Given the description of an element on the screen output the (x, y) to click on. 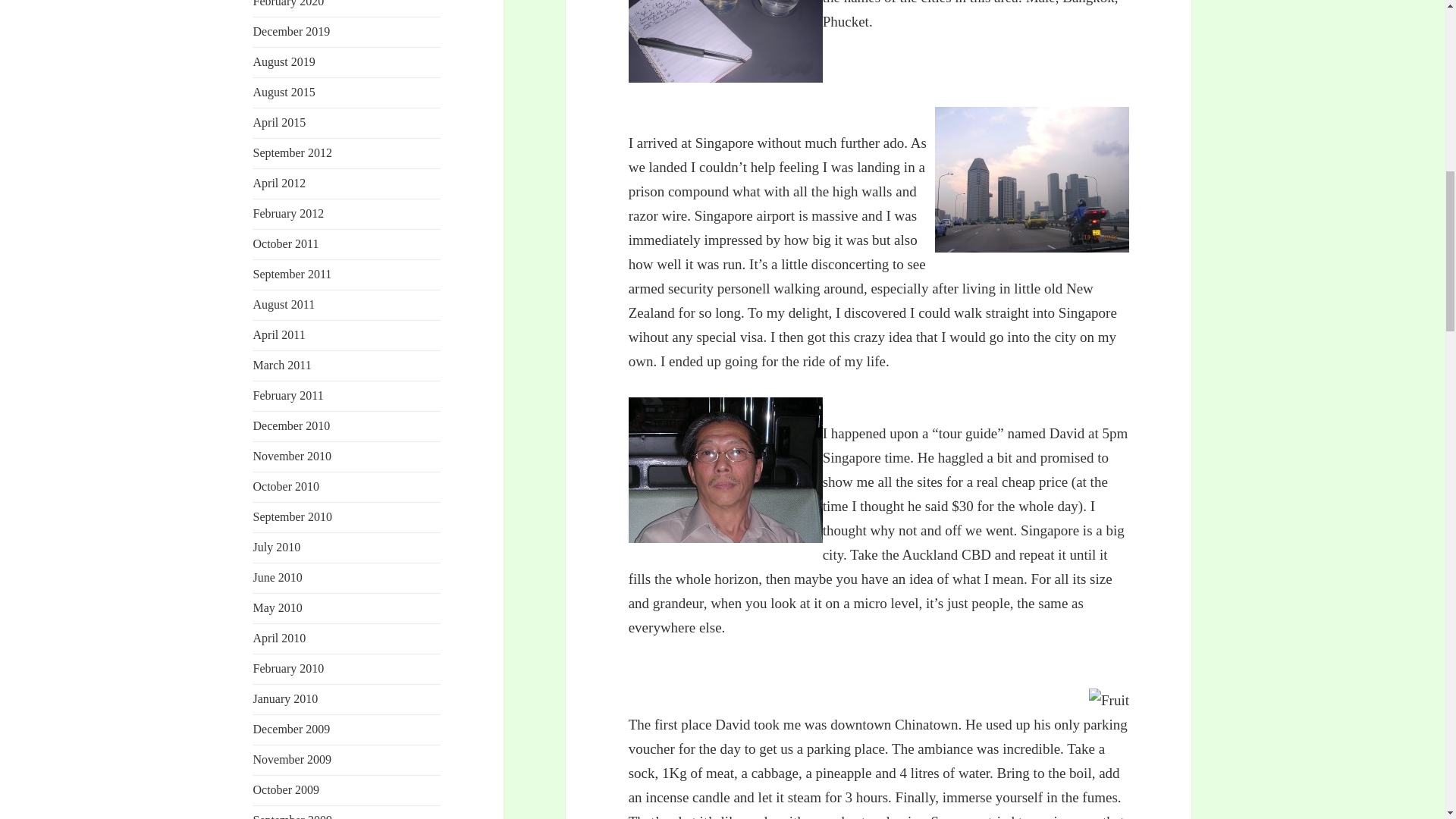
August 2011 (284, 304)
February 2020 (288, 3)
February 2011 (288, 395)
December 2019 (291, 31)
September 2011 (292, 273)
September 2010 (292, 516)
March 2011 (282, 364)
September 2012 (292, 152)
July 2010 (277, 546)
April 2011 (279, 334)
